Given the description of an element on the screen output the (x, y) to click on. 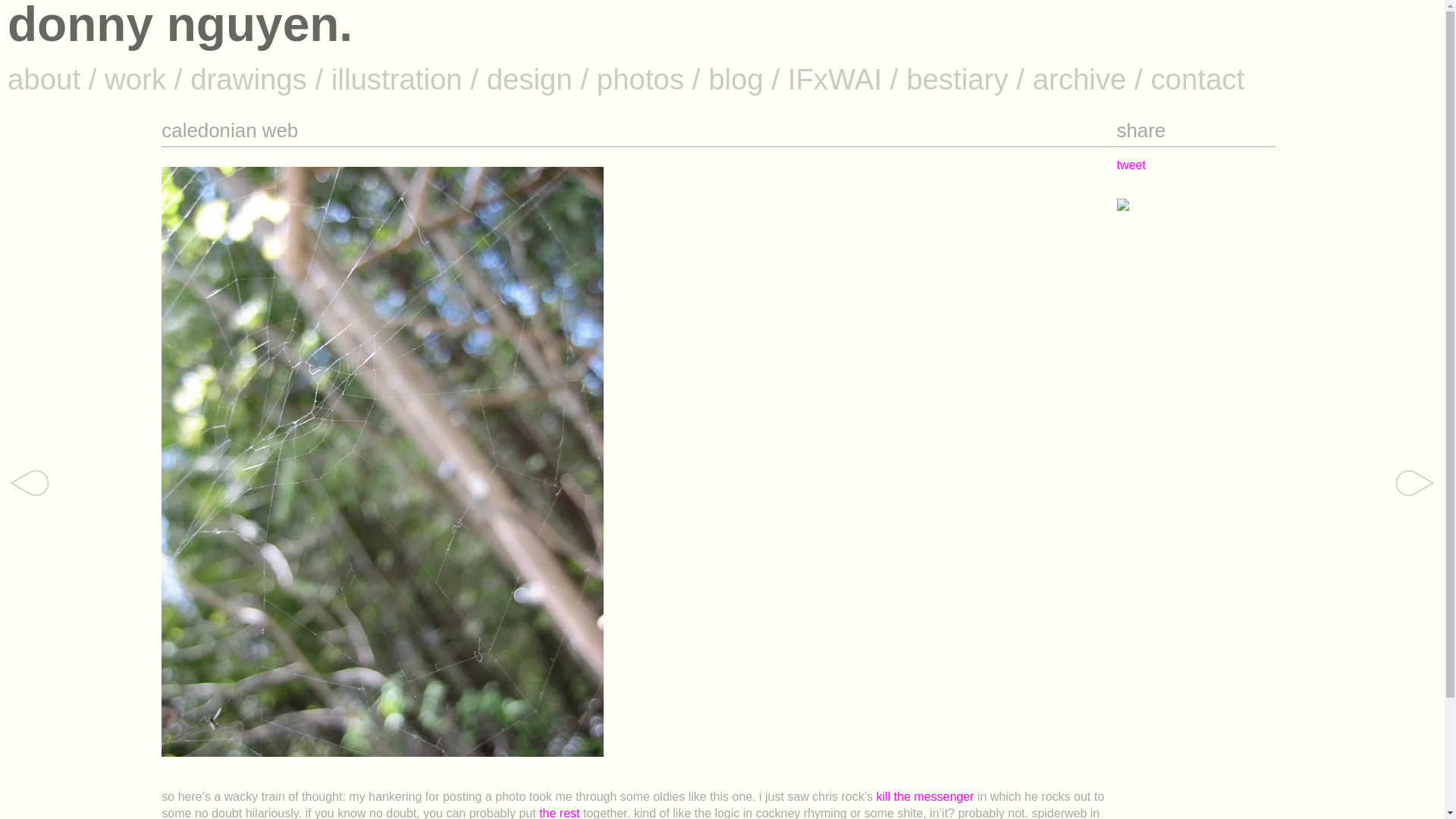
drawings (248, 79)
illustration (397, 79)
blog (734, 79)
bestiary (956, 79)
design (529, 79)
tweet (1130, 164)
photos (640, 79)
work (134, 79)
about (43, 79)
kill the messenger (926, 796)
the rest (560, 812)
archive (1079, 79)
IFxWAI (834, 79)
contact (1197, 79)
